Given the description of an element on the screen output the (x, y) to click on. 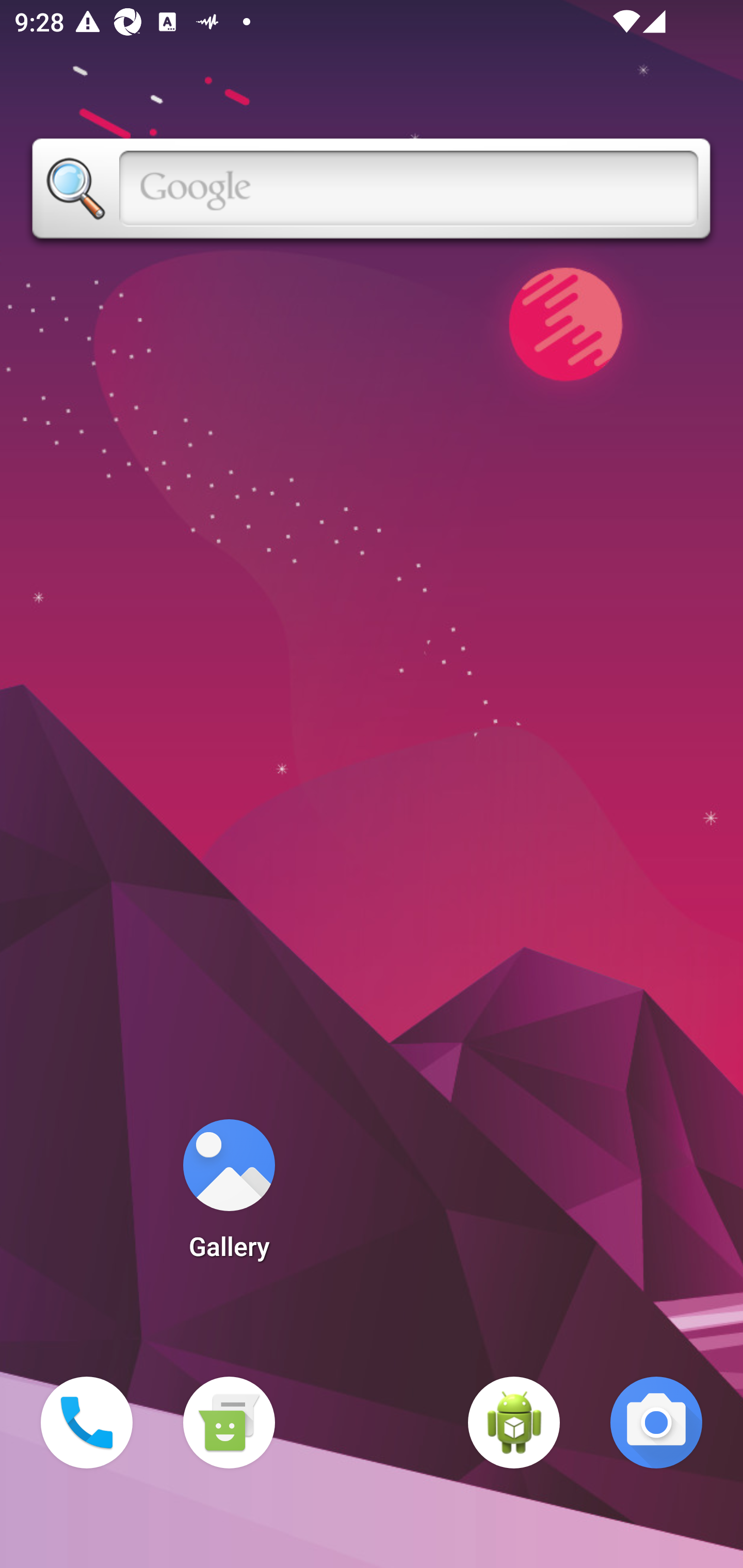
Gallery (228, 1195)
Phone (86, 1422)
Messaging (228, 1422)
WebView Browser Tester (513, 1422)
Camera (656, 1422)
